Given the description of an element on the screen output the (x, y) to click on. 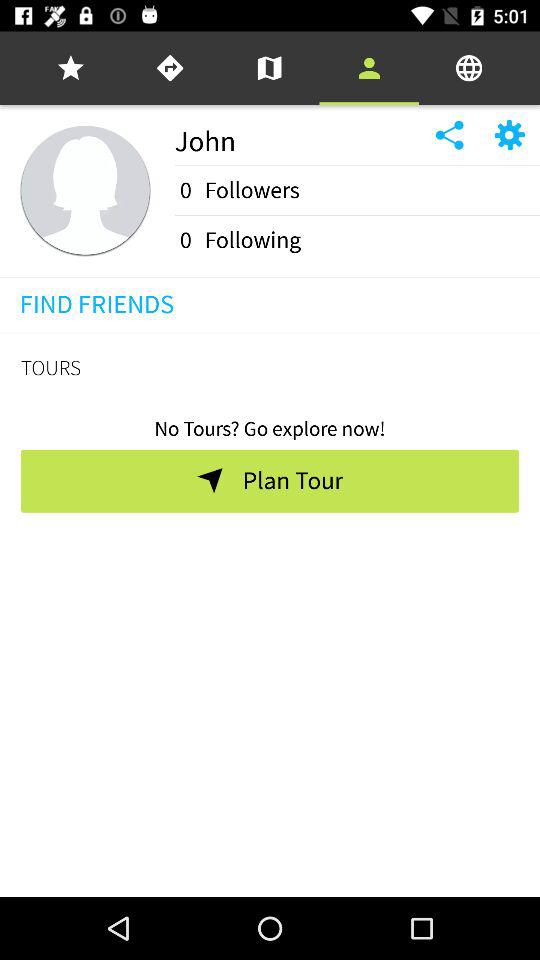
turn off the item to the right of the 0 (252, 240)
